Given the description of an element on the screen output the (x, y) to click on. 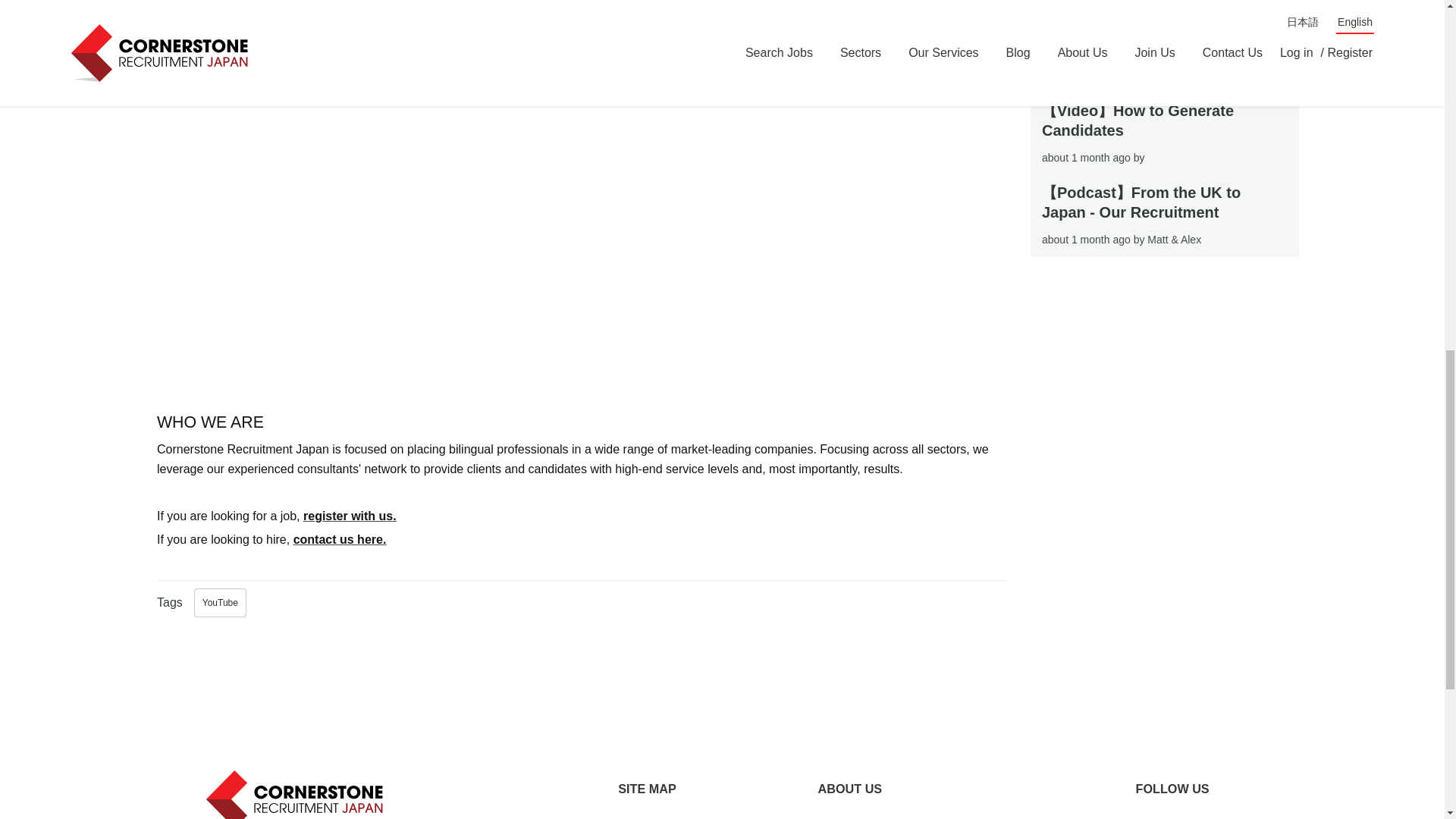
register with us (347, 515)
Go to the Homepage (298, 794)
YouTube (220, 602)
YouTube video player (368, 251)
contact us here. (340, 539)
